Given the description of an element on the screen output the (x, y) to click on. 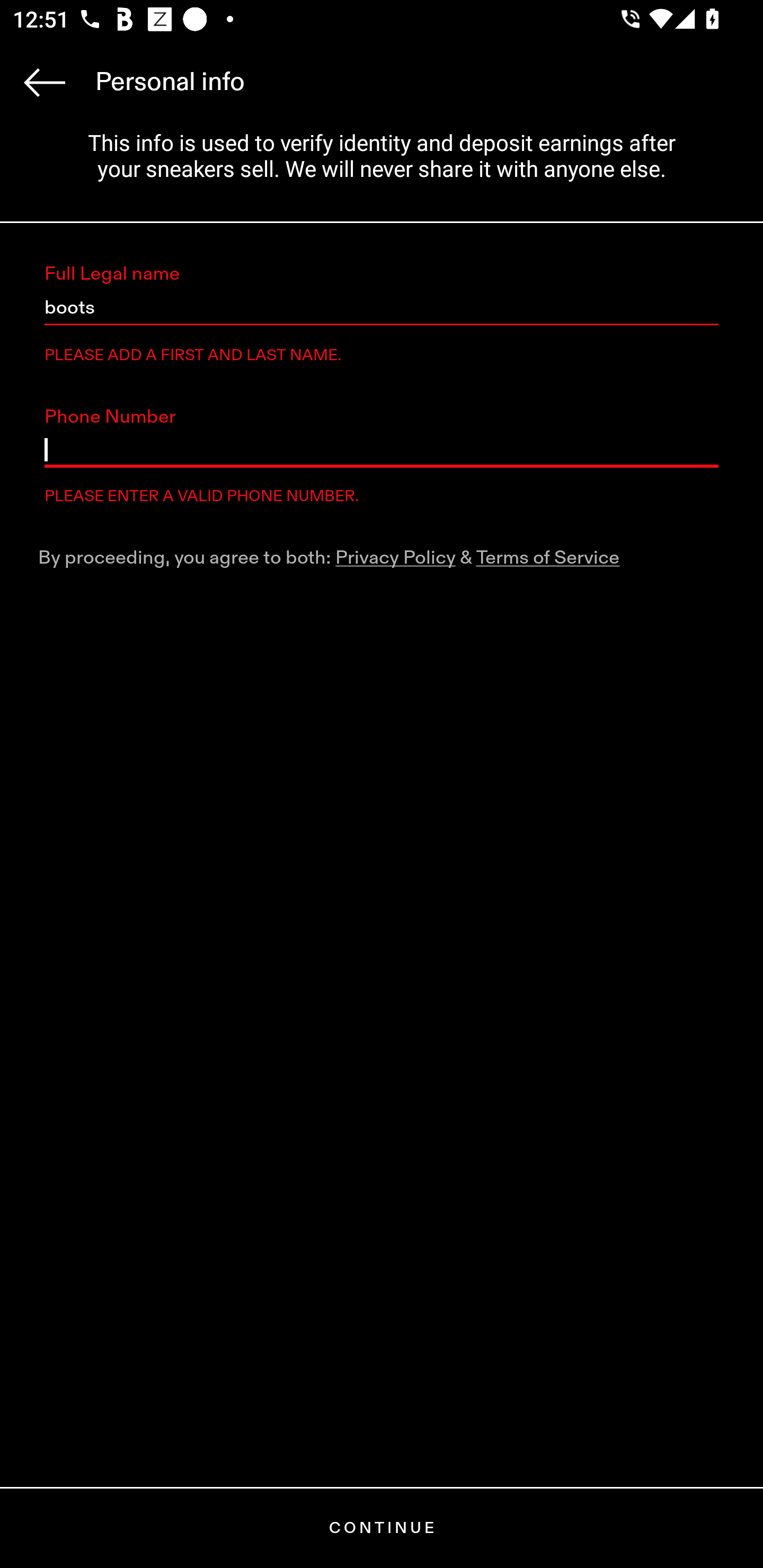
Navigate up (44, 82)
boots (381, 308)
Phone Number (381, 449)
CONTINUE (381, 1528)
